Given the description of an element on the screen output the (x, y) to click on. 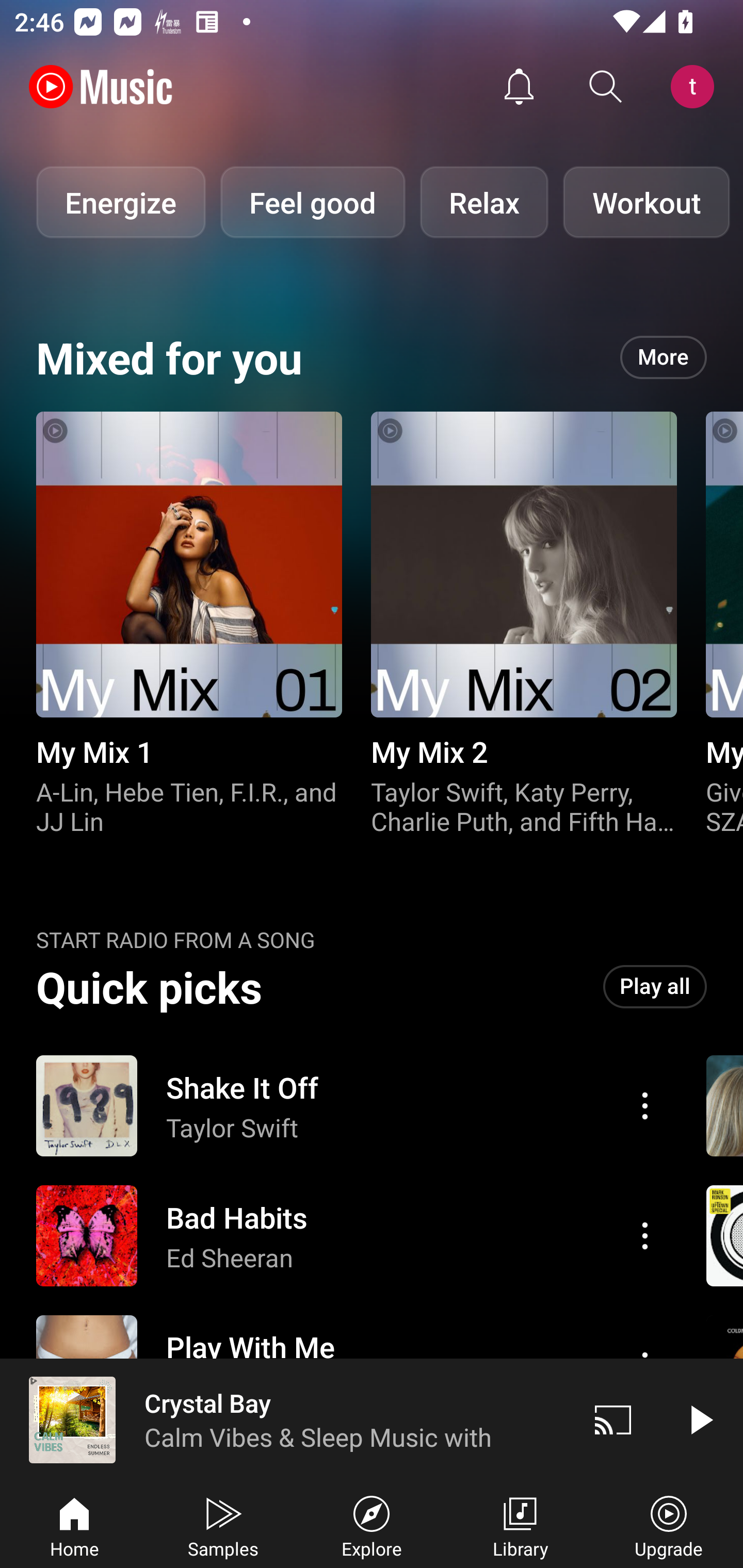
Activity feed (518, 86)
Search (605, 86)
Account (696, 86)
Action menu (349, 1106)
Action menu (644, 1106)
Action menu (349, 1236)
Action menu (644, 1235)
Cast. Disconnected (612, 1419)
Play video (699, 1419)
Home (74, 1524)
Samples (222, 1524)
Explore (371, 1524)
Library (519, 1524)
Upgrade (668, 1524)
